Given the description of an element on the screen output the (x, y) to click on. 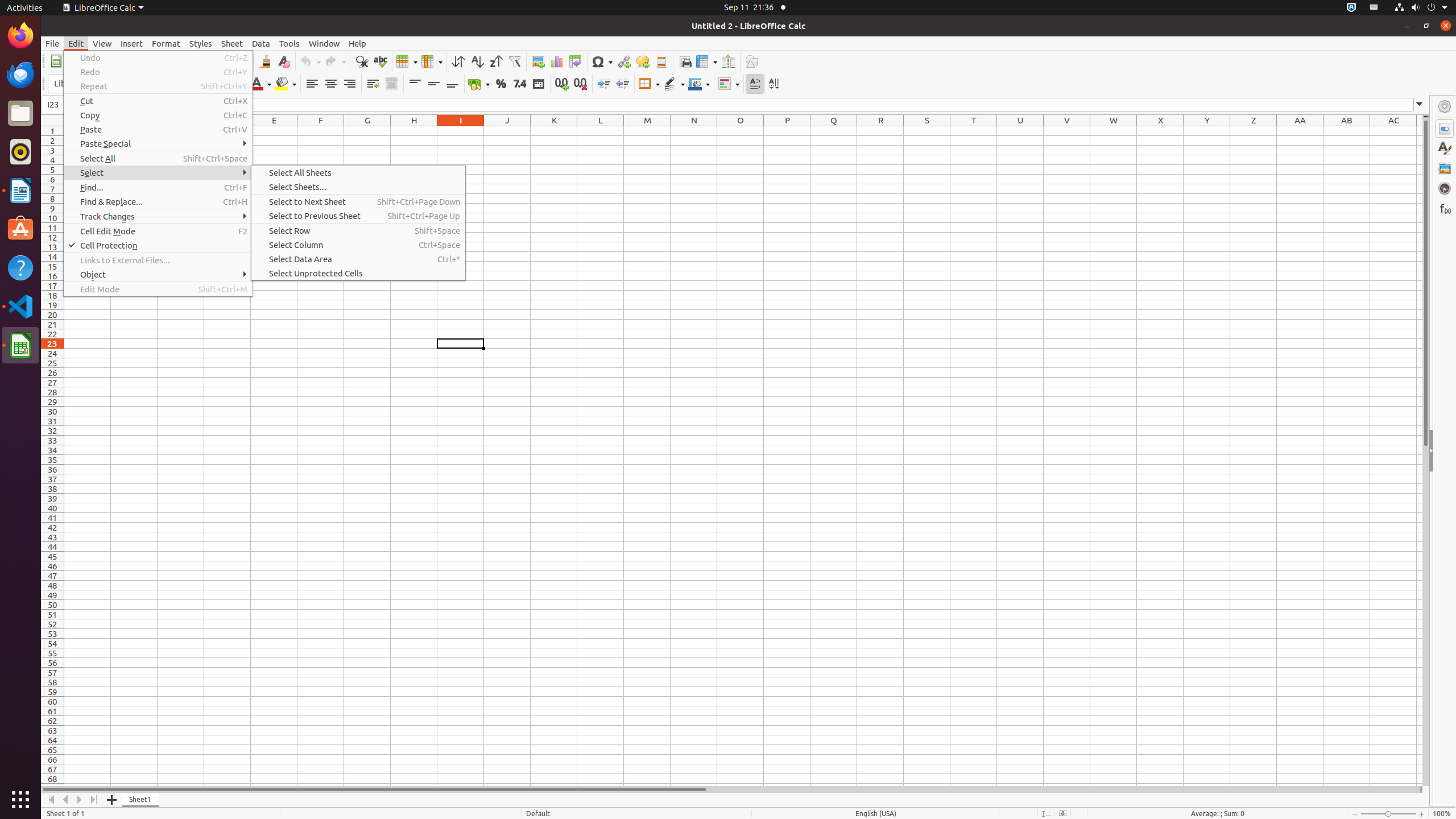
Borders (Shift to overwrite) Element type: push-button (648, 83)
Wrap Text Element type: push-button (372, 83)
J1 Element type: table-cell (507, 130)
Align Right Element type: push-button (349, 83)
